Given the description of an element on the screen output the (x, y) to click on. 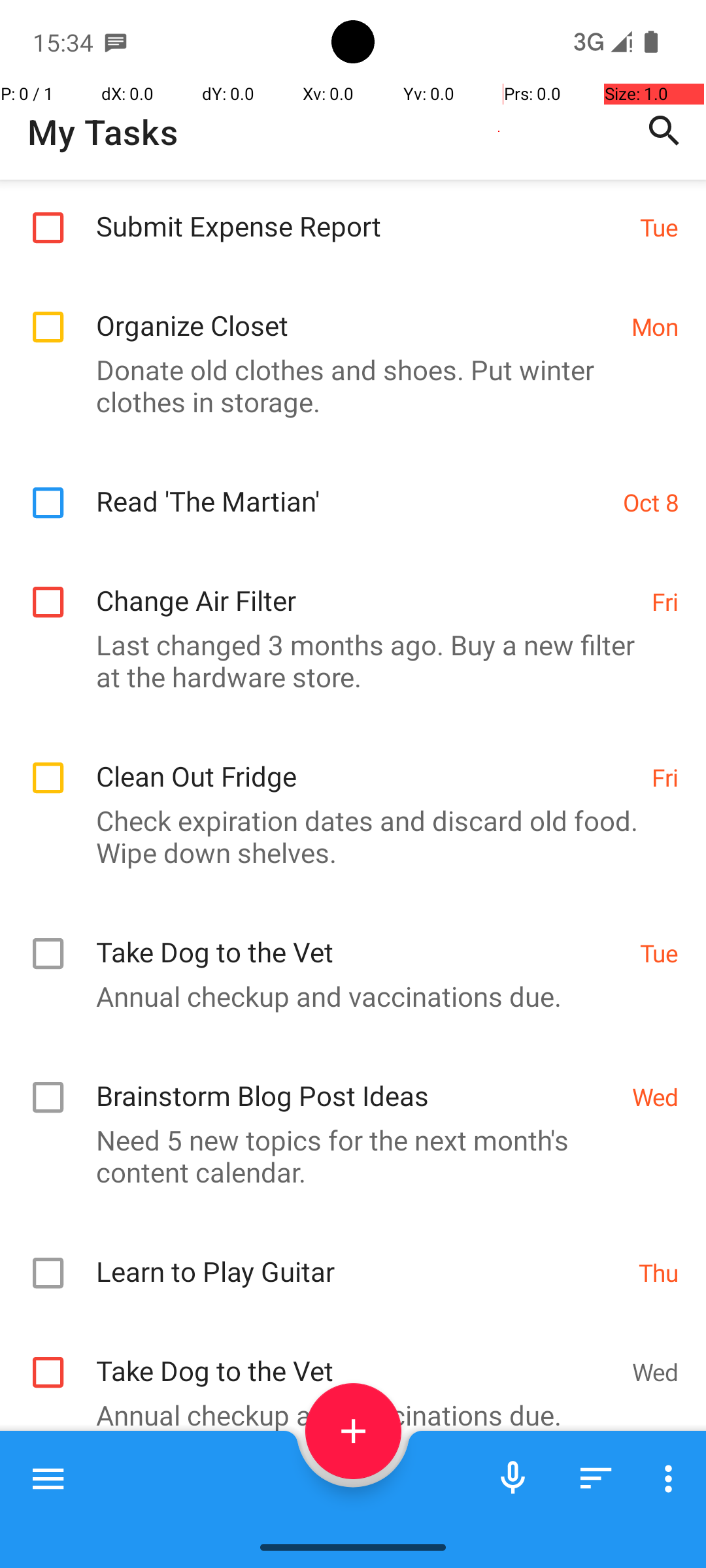
My Tasks Element type: android.widget.TextView (102, 131)
Sort Element type: android.widget.Button (595, 1478)
Create new task Element type: android.widget.ImageButton (353, 1431)
Submit Expense Report Element type: android.widget.TextView (361, 211)
Tue Element type: android.widget.TextView (659, 226)
Organize Closet Element type: android.widget.TextView (356, 310)
Donate old clothes and shoes. Put winter clothes in storage. Element type: android.widget.TextView (346, 385)
Mon Element type: android.widget.TextView (654, 325)
Read 'The Martian' Element type: android.widget.TextView (352, 486)
Oct 8 Element type: android.widget.TextView (650, 501)
Change Air Filter Element type: android.widget.TextView (367, 586)
Last changed 3 months ago. Buy a new filter at the hardware store. Element type: android.widget.TextView (346, 660)
Fri Element type: android.widget.TextView (665, 600)
Clean Out Fridge Element type: android.widget.TextView (367, 761)
Check expiration dates and discard old food. Wipe down shelves. Element type: android.widget.TextView (346, 835)
Take Dog to the Vet Element type: android.widget.TextView (361, 937)
Annual checkup and vaccinations due. Element type: android.widget.TextView (346, 995)
Brainstorm Blog Post Ideas Element type: android.widget.TextView (357, 1081)
Need 5 new topics for the next month's content calendar. Element type: android.widget.TextView (346, 1155)
Wed Element type: android.widget.TextView (655, 1096)
Learn to Play Guitar Element type: android.widget.TextView (360, 1257)
Thu Element type: android.widget.TextView (658, 1271)
